Given the description of an element on the screen output the (x, y) to click on. 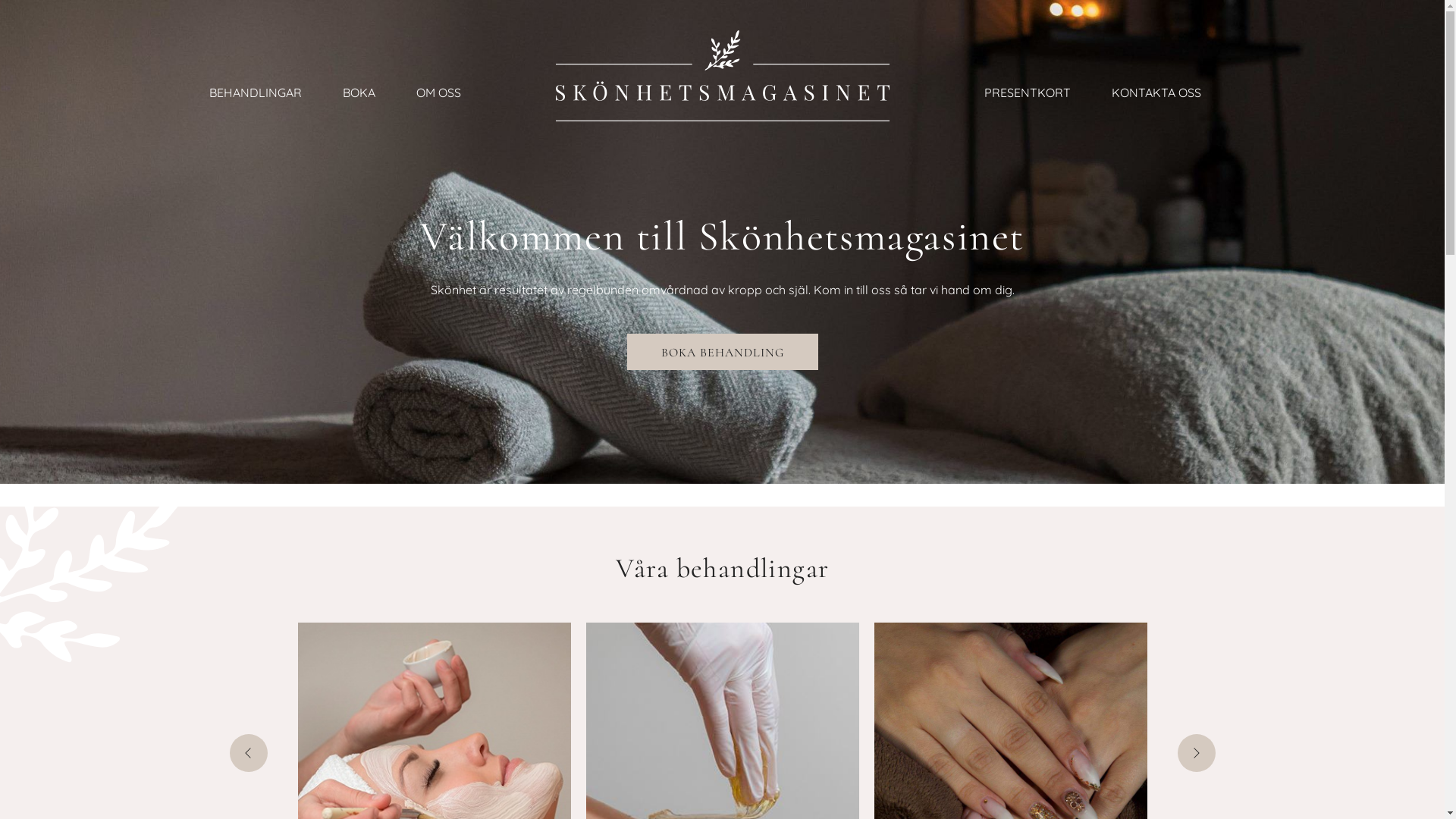
Previous Element type: text (247, 752)
BOKA Element type: text (358, 93)
Next Element type: text (1195, 752)
BOKA BEHANDLING Element type: text (721, 351)
KONTAKTA OSS Element type: text (1156, 93)
BEHANDLINGAR Element type: text (255, 93)
OM OSS Element type: text (437, 93)
PRESENTKORT Element type: text (1027, 93)
